Given the description of an element on the screen output the (x, y) to click on. 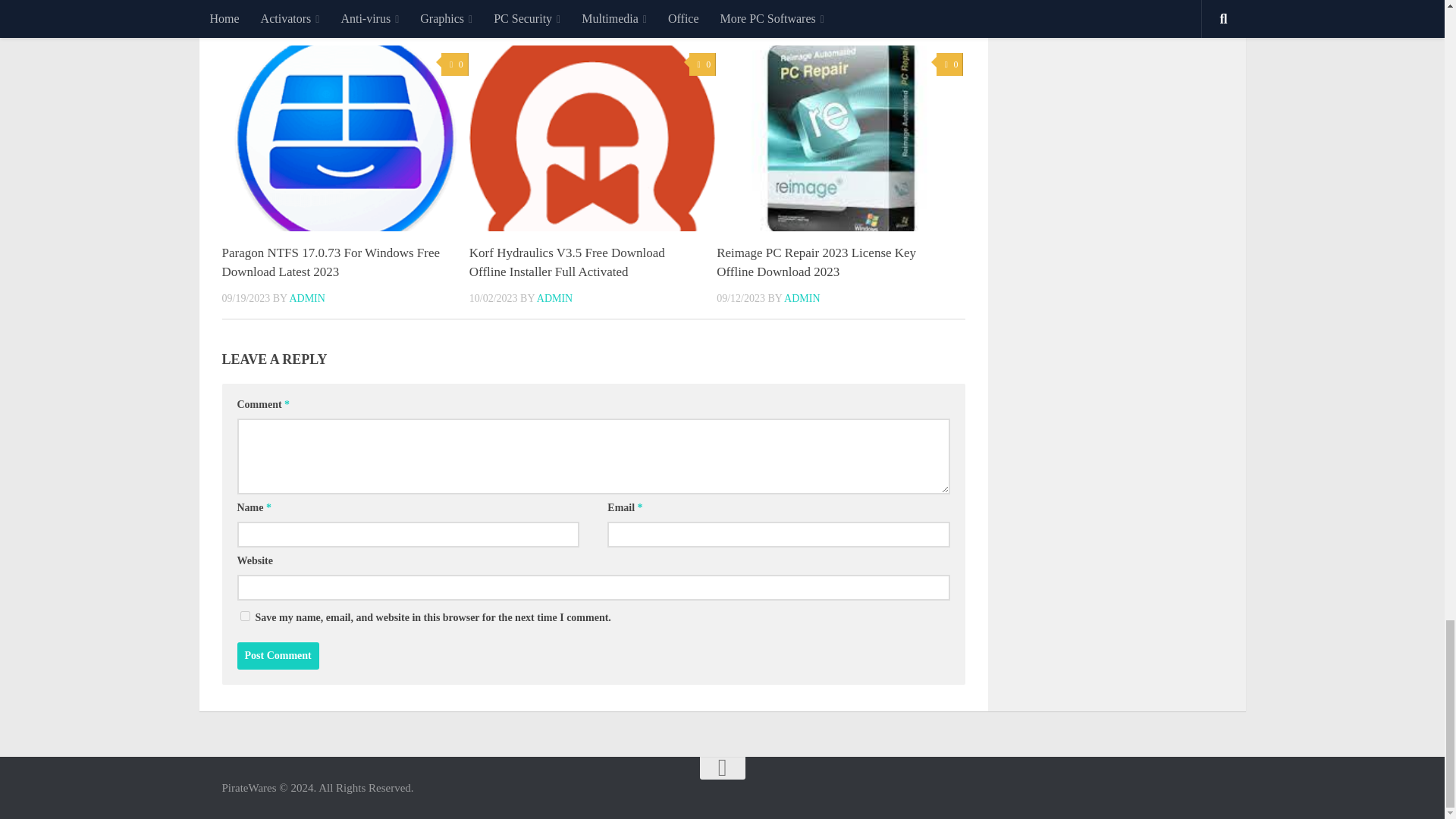
Posts by admin (306, 297)
Posts by admin (554, 297)
Posts by admin (801, 297)
Post Comment (276, 655)
yes (244, 615)
